Given the description of an element on the screen output the (x, y) to click on. 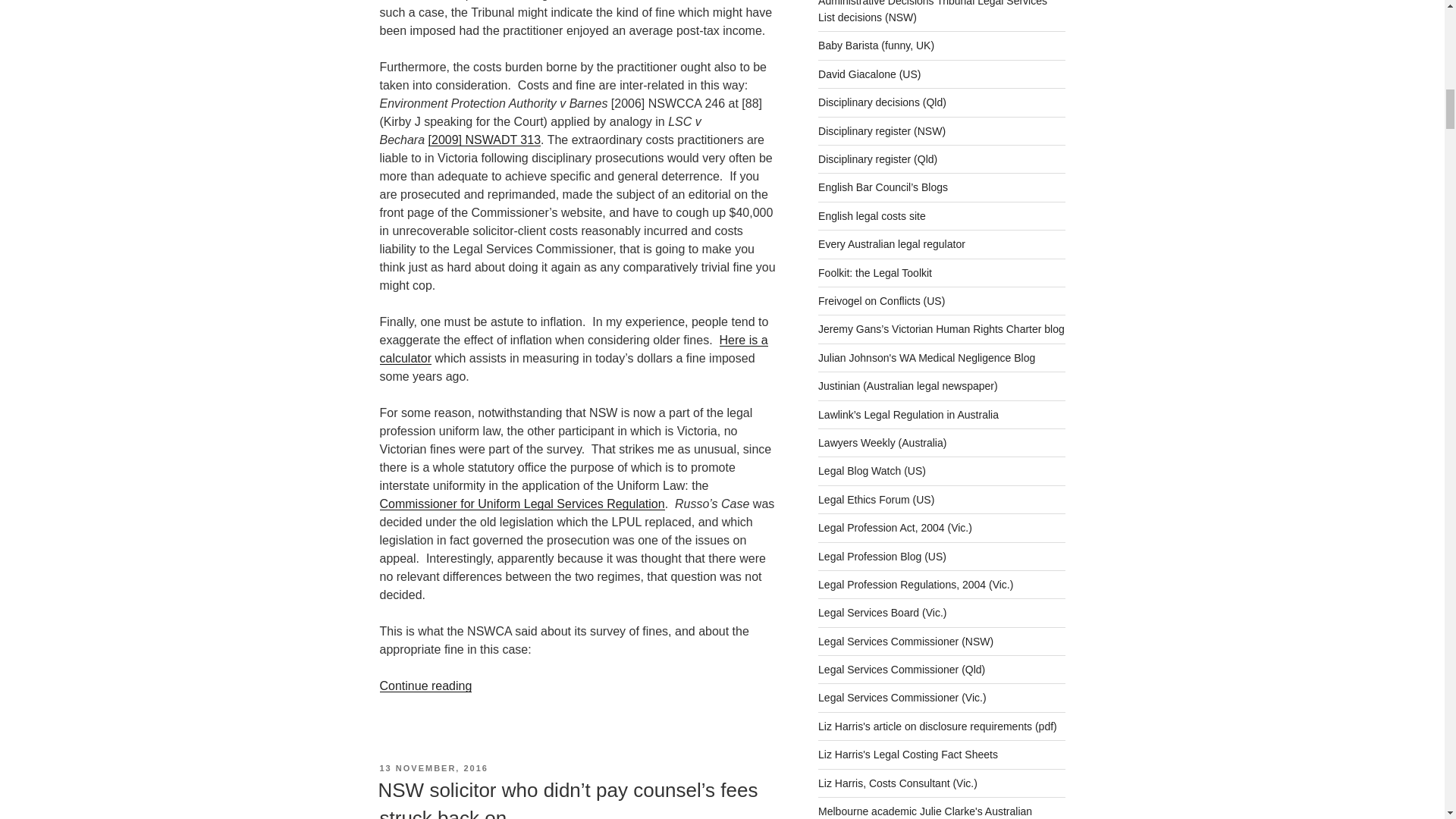
The fictional diary of an English Bar Reader (876, 45)
Here is a calculator (572, 348)
Commissioner for Uniform Legal Services Regulation (520, 503)
13 NOVEMBER, 2016 (432, 768)
Decisions about the discipline of NSW lawyers (932, 11)
